Given the description of an element on the screen output the (x, y) to click on. 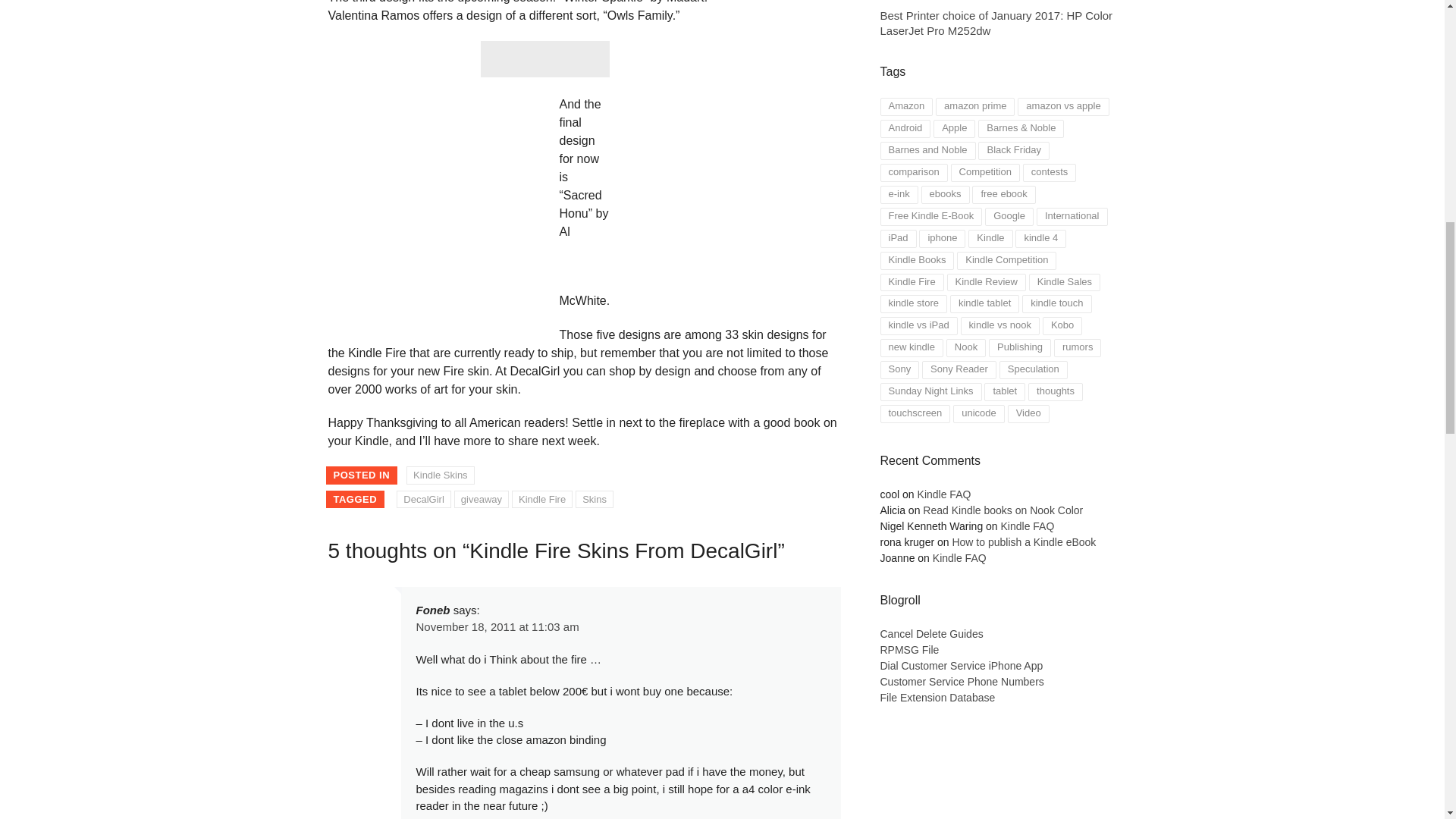
File Extension Explorer (960, 665)
Kindle Skins (440, 475)
DecalGirl (422, 499)
giveaway (481, 499)
November 18, 2011 at 11:03 am (496, 626)
Kindle Fire (542, 499)
Skins (593, 499)
File Extension Database (936, 697)
Website with guides on how to cancel and delete things (930, 633)
